Given the description of an element on the screen output the (x, y) to click on. 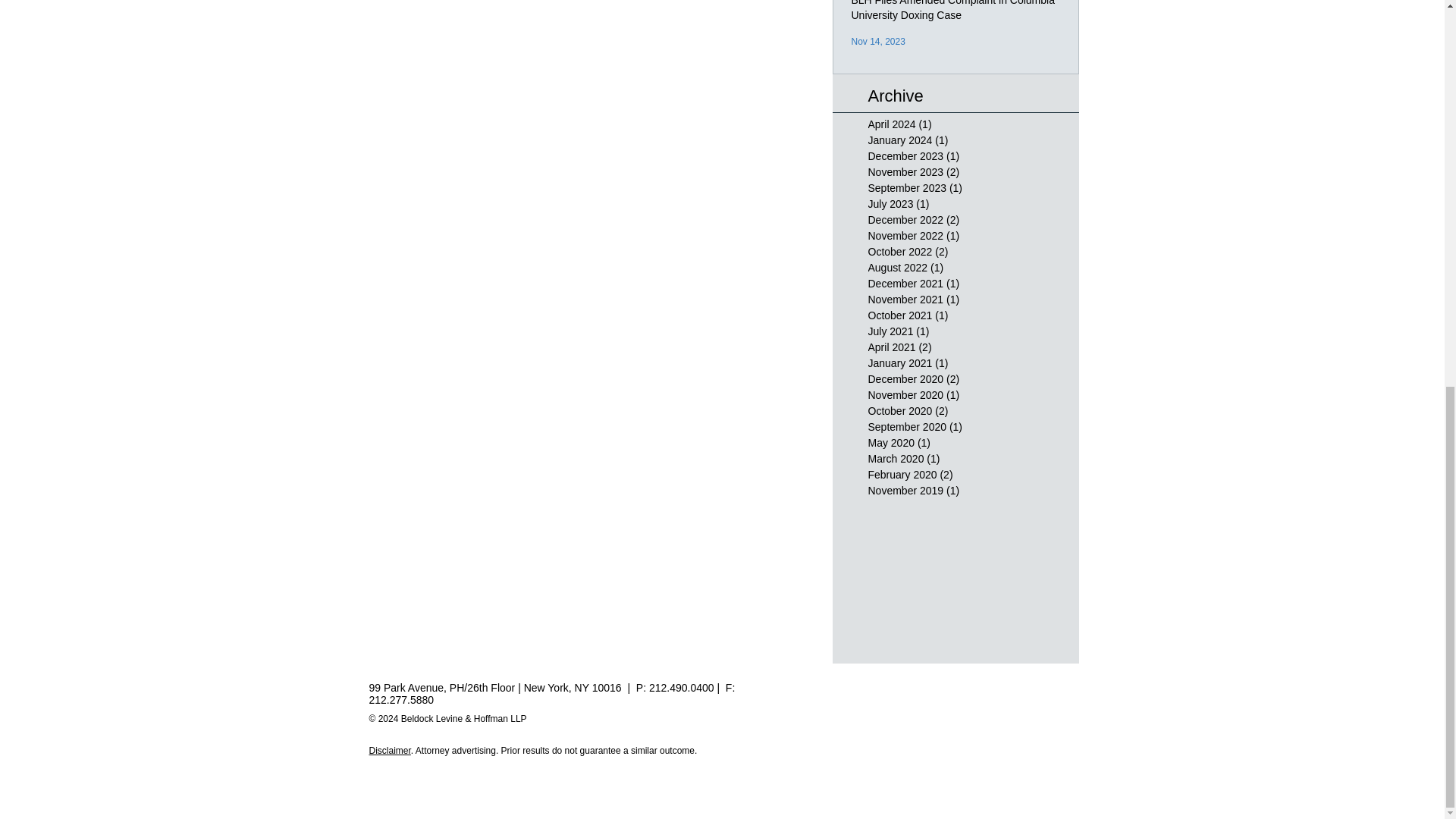
Nov 14, 2023 (877, 41)
